Given the description of an element on the screen output the (x, y) to click on. 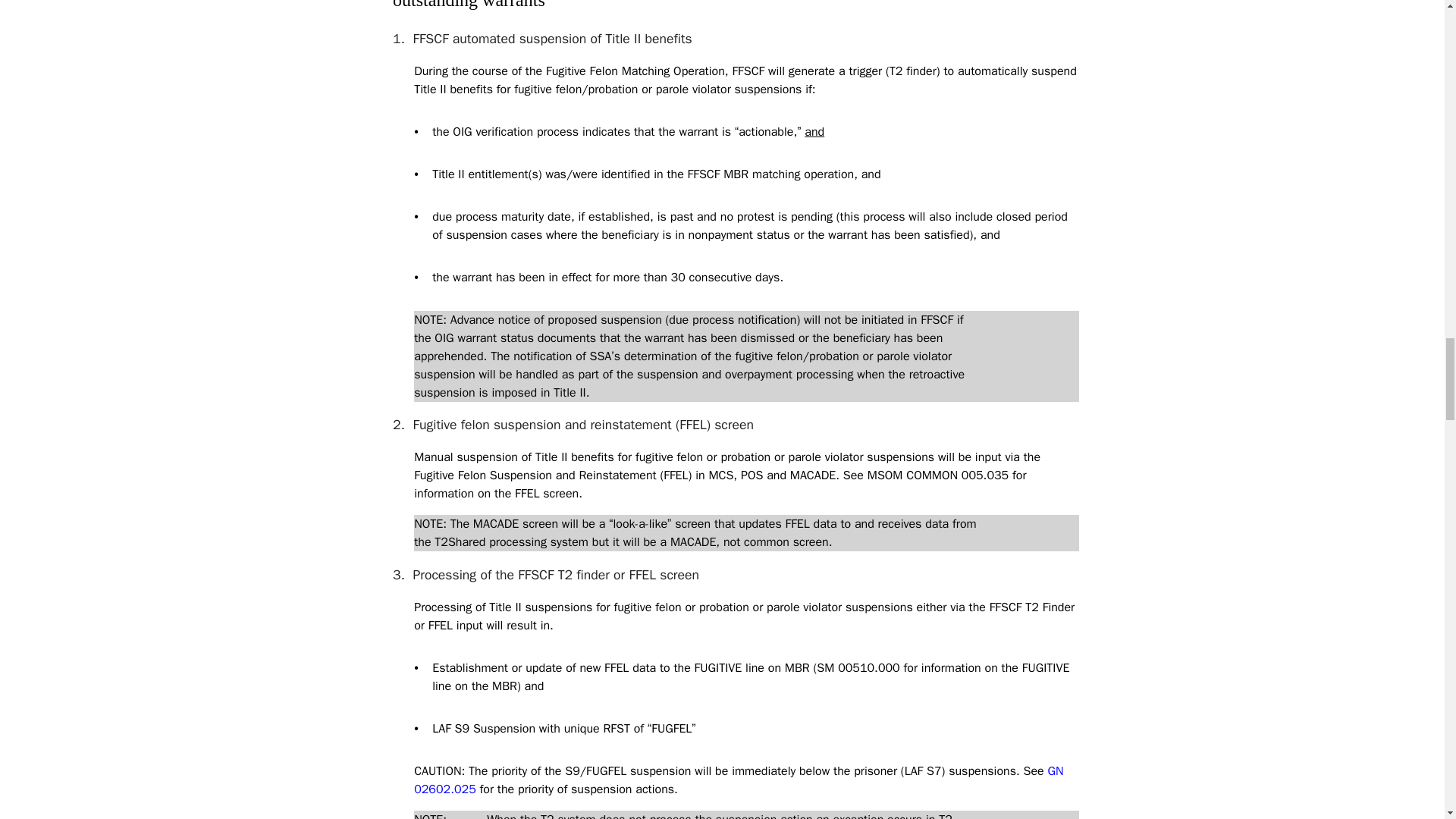
GN 02602.025 (737, 779)
